Given the description of an element on the screen output the (x, y) to click on. 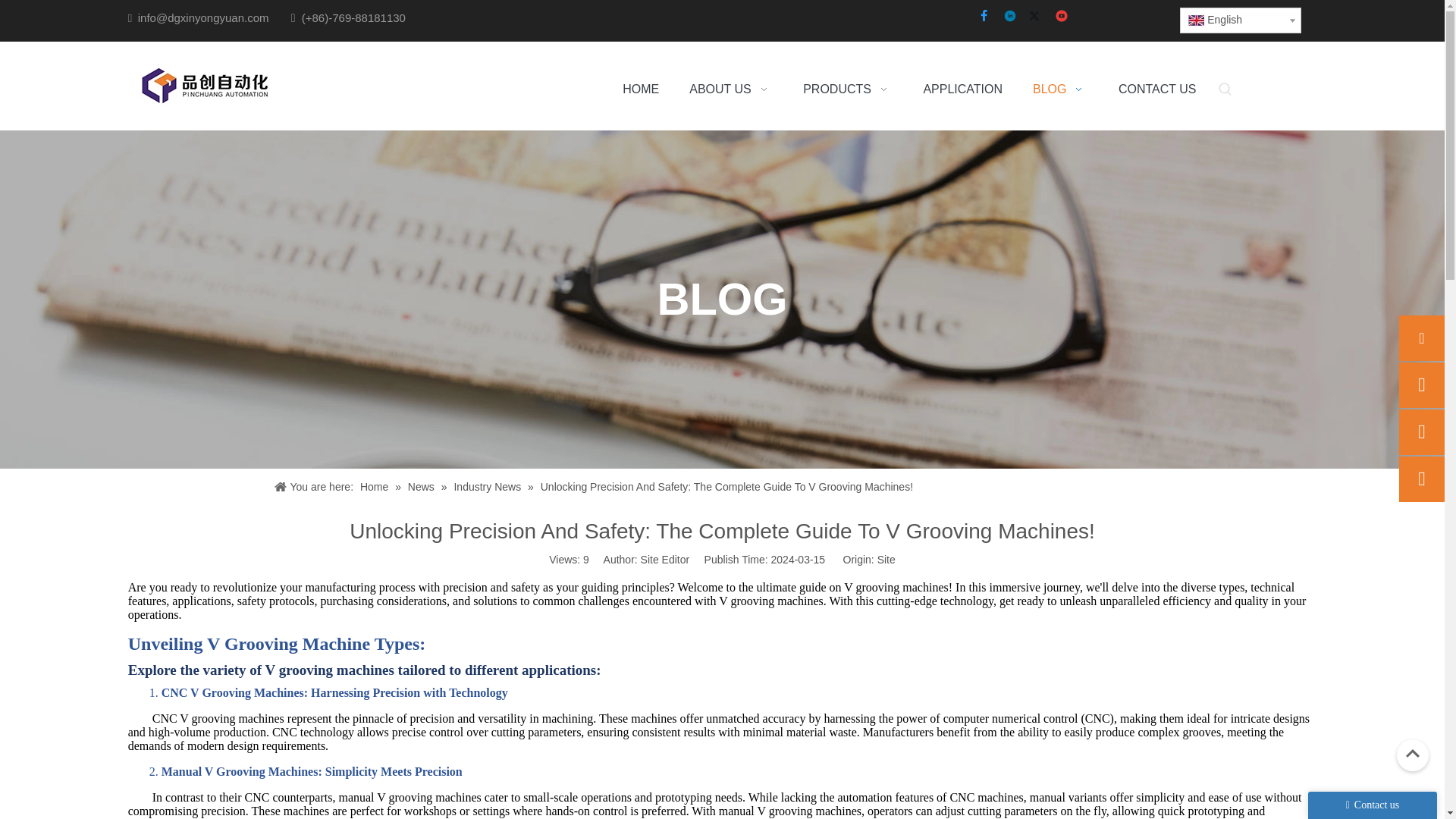
Linkedin (1010, 16)
Twitter (1036, 16)
APPLICATION (963, 89)
Facebook (984, 16)
logo (203, 85)
PRODUCTS   (847, 89)
BLOG   (1059, 89)
HOME (641, 89)
Youtube (1061, 16)
CONTACT US (1157, 89)
ABOUT US   (730, 89)
